Given the description of an element on the screen output the (x, y) to click on. 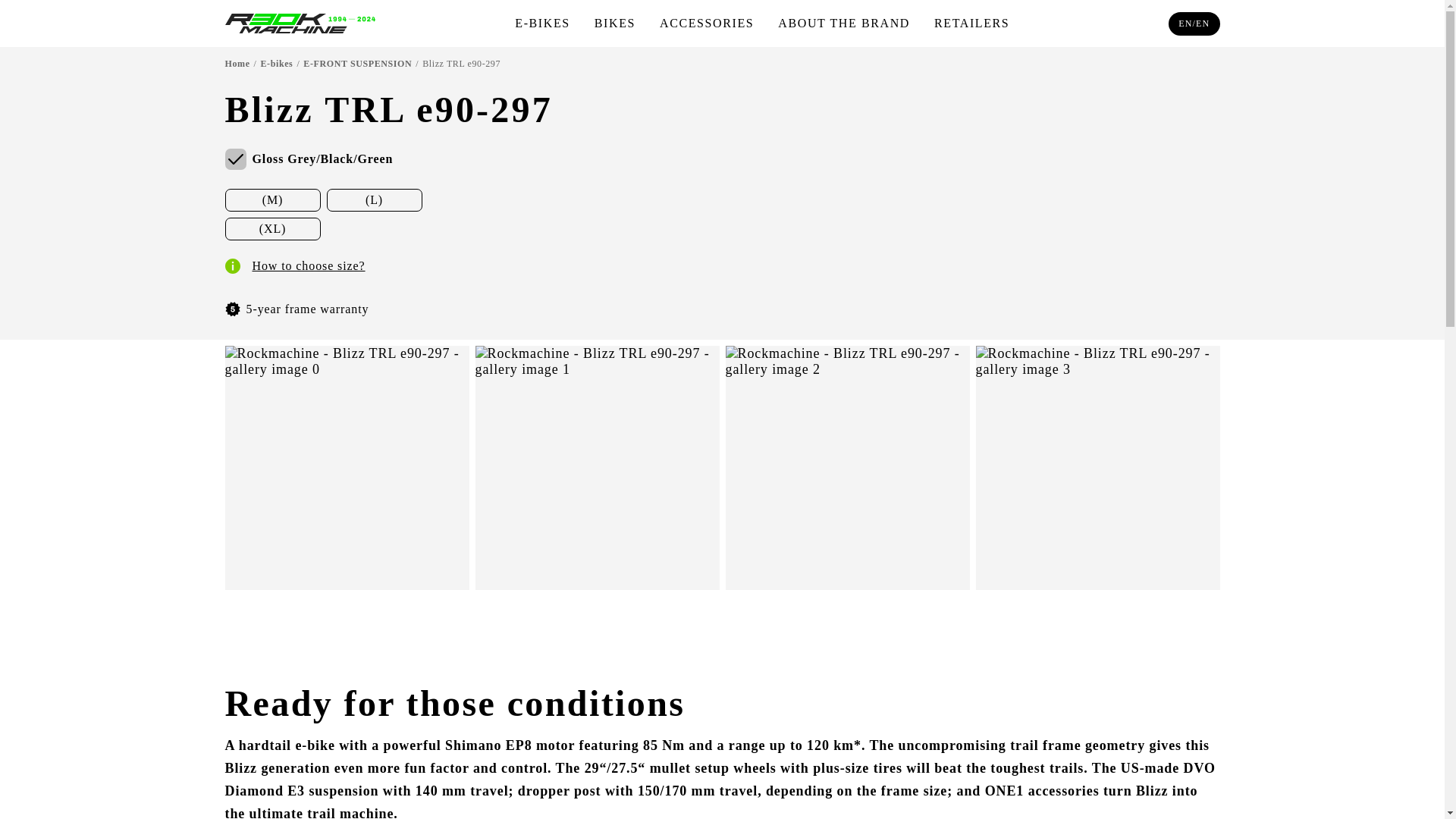
E-FRONT SUSPENSION (357, 63)
How to choose size? (294, 265)
ABOUT THE BRAND (843, 23)
E-BIKES (542, 23)
ACCESSORIES (706, 23)
BIKES (614, 23)
RETAILERS (971, 23)
5-year frame warranty (296, 309)
E-bikes (277, 63)
Home (236, 63)
